Given the description of an element on the screen output the (x, y) to click on. 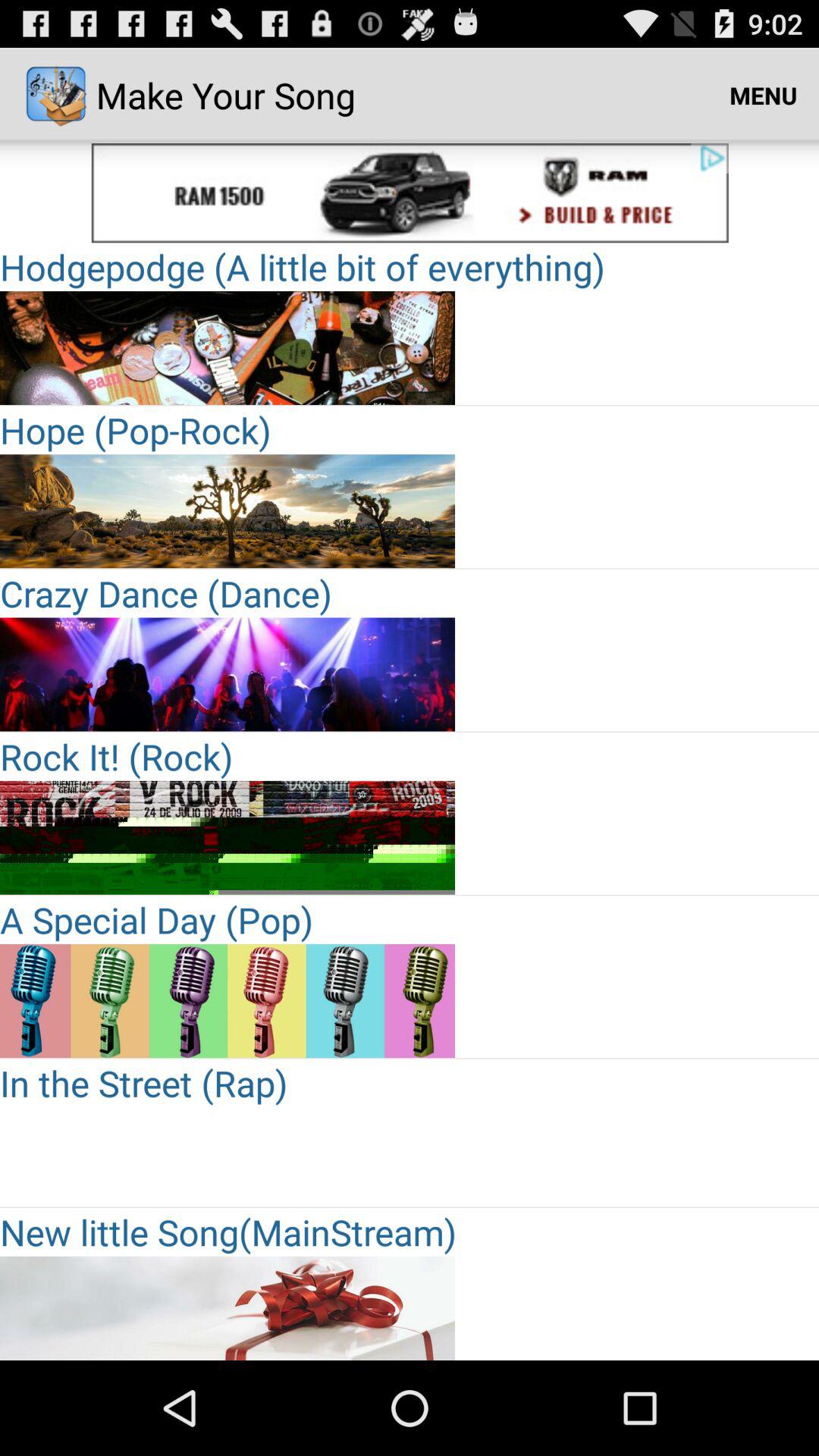
clickable advertisement (227, 192)
